Given the description of an element on the screen output the (x, y) to click on. 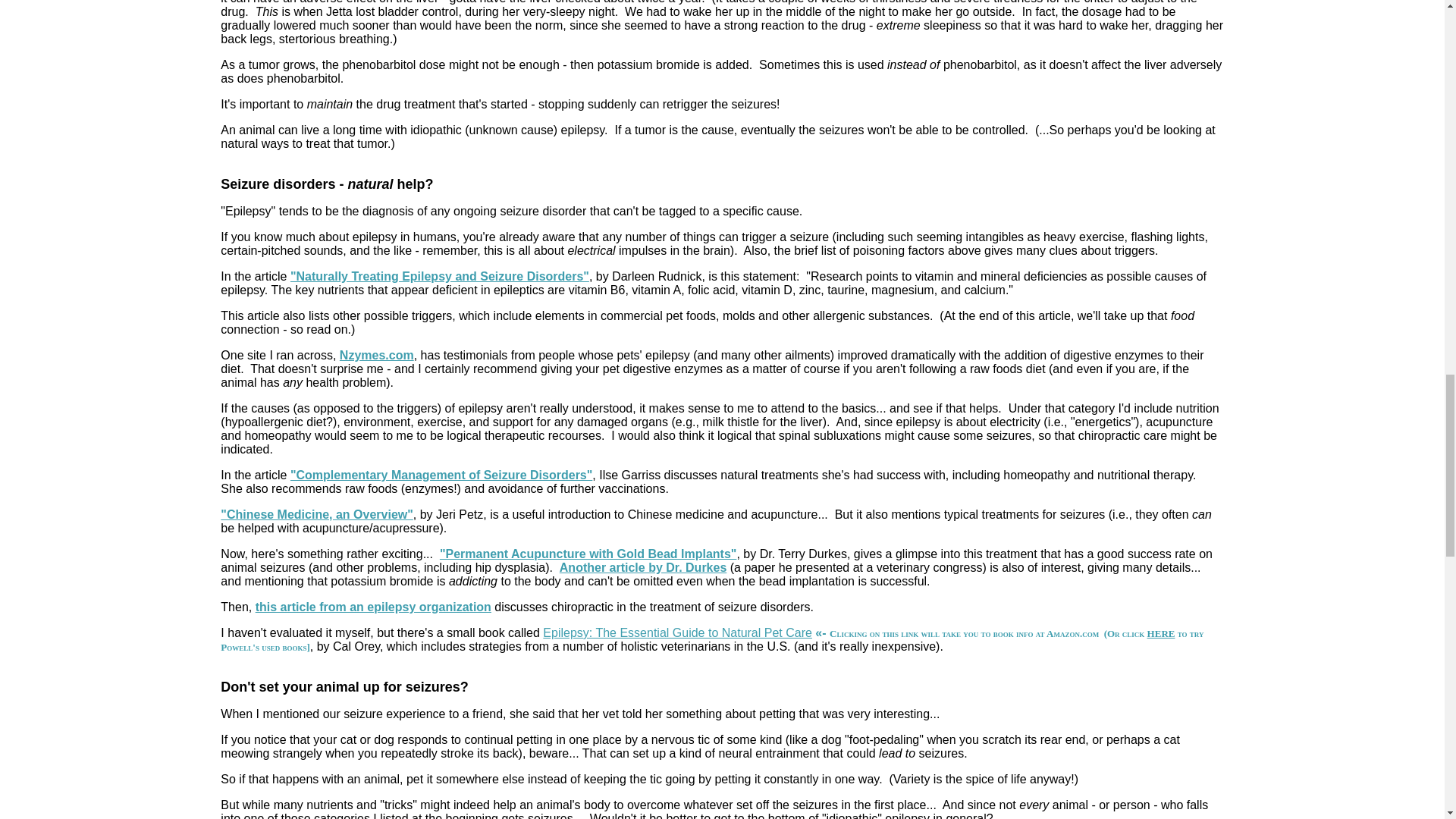
Nzymes.com (376, 354)
"Complementary Management of Seizure Disorders" (440, 474)
"Chinese Medicine, an Overview" (316, 513)
"Permanent Acupuncture with Gold Bead Implants" (587, 553)
"Naturally Treating Epilepsy and Seizure Disorders" (439, 276)
HERE (1160, 633)
Another article by Dr. Durkes (642, 567)
Epilepsy: The Essential Guide to Natural Pet Care (677, 632)
this article from an epilepsy organization (374, 606)
